Given the description of an element on the screen output the (x, y) to click on. 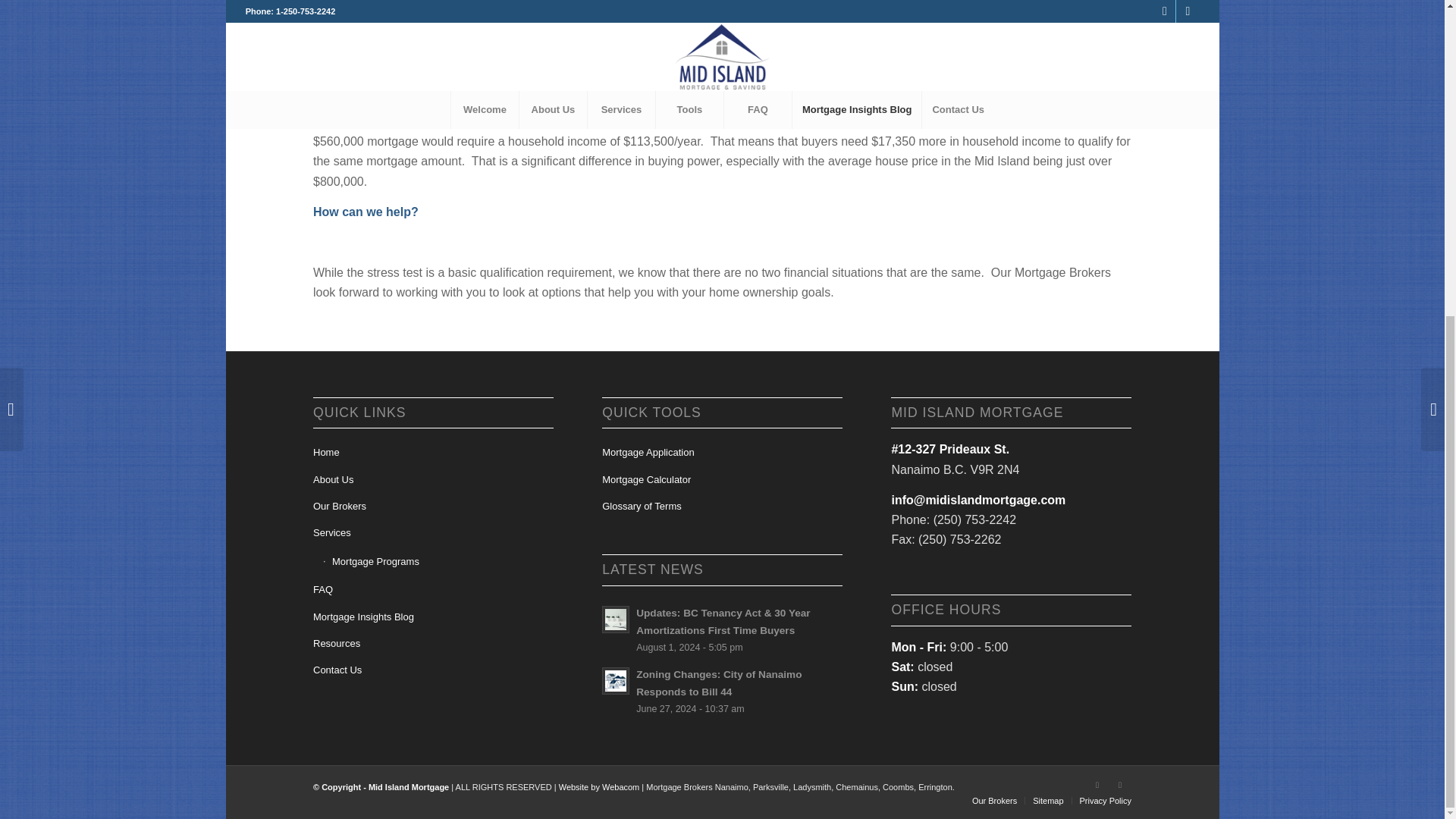
Services (433, 533)
Zoning Changes: City of Nanaimo Responds to Bill 44 (719, 683)
Read: Zoning Changes: City of Nanaimo Responds to Bill 44 (719, 683)
Contact Us (433, 670)
Our Brokers (433, 506)
Mortgage Programs (438, 562)
Mortgage Insights Blog (433, 617)
Read: Zoning Changes: City of Nanaimo Responds to Bill 44 (615, 680)
Glossary of Terms (722, 506)
Mortgage Calculator (722, 479)
